Given the description of an element on the screen output the (x, y) to click on. 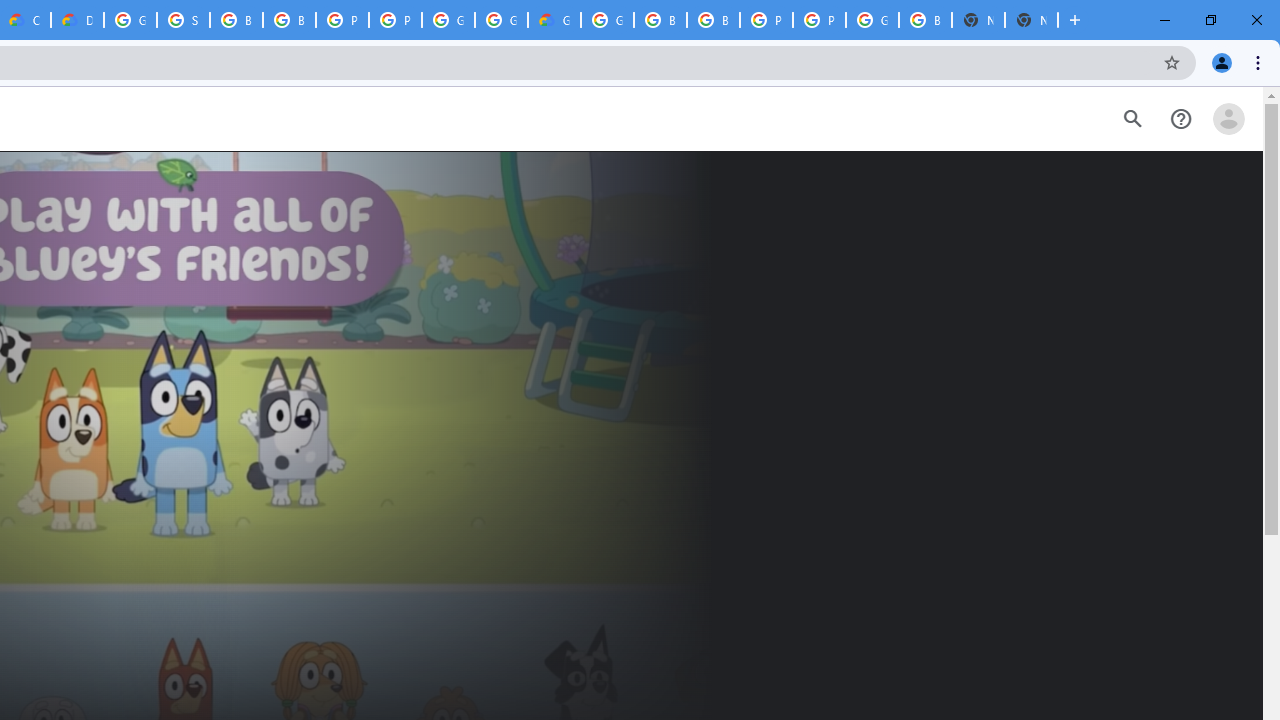
Google Cloud Platform (872, 20)
Google Cloud Platform (448, 20)
Browse Chrome as a guest - Computer - Google Chrome Help (660, 20)
Google Cloud Platform (130, 20)
Open account menu (1228, 119)
Sign in - Google Accounts (183, 20)
